Given the description of an element on the screen output the (x, y) to click on. 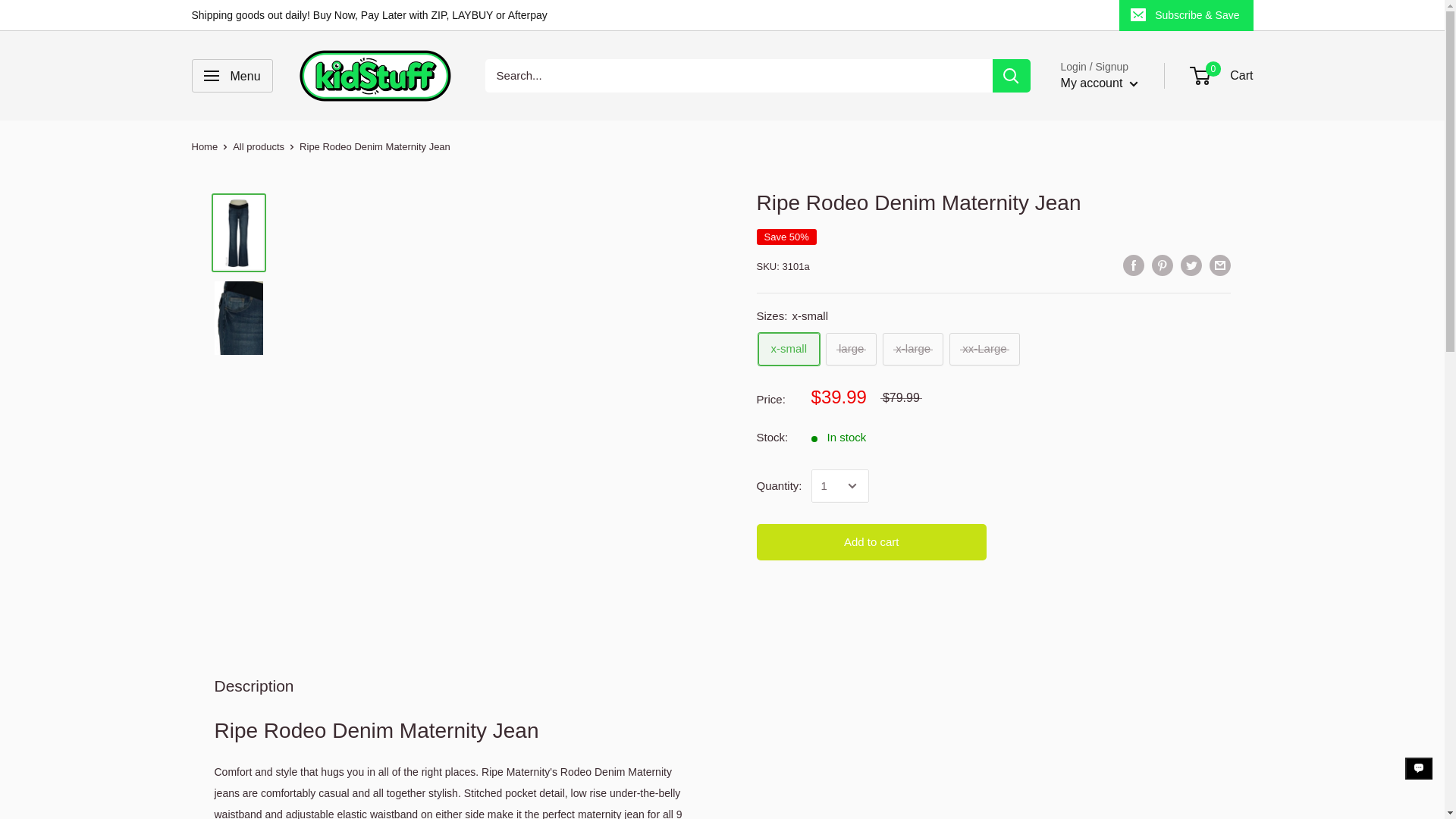
large (850, 348)
xx-Large (984, 348)
x-small (789, 348)
x-large (912, 348)
